Given the description of an element on the screen output the (x, y) to click on. 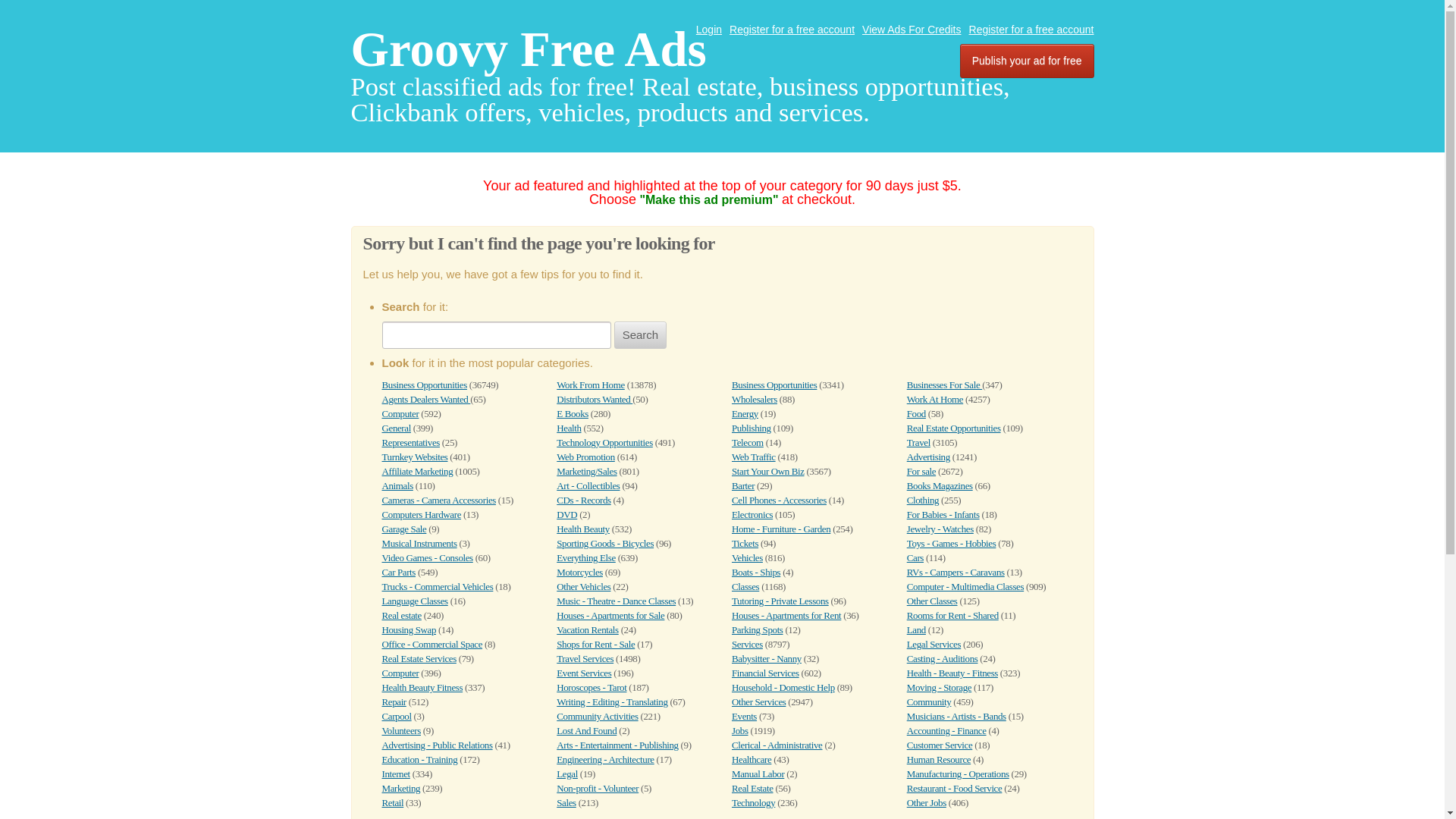
Work At Home (934, 398)
Energy (745, 413)
Cameras - Camera Accessories (438, 500)
Search (640, 334)
Technology Opportunities (604, 441)
View Ads For Credits (910, 29)
E Books (572, 413)
Food (916, 413)
Agents Dealers Wanted (425, 398)
Publishing (751, 428)
Businesses For Sale (944, 384)
Publish your ad for free (1026, 60)
Work From Home (590, 384)
General (395, 428)
Affiliate Marketing (416, 471)
